Given the description of an element on the screen output the (x, y) to click on. 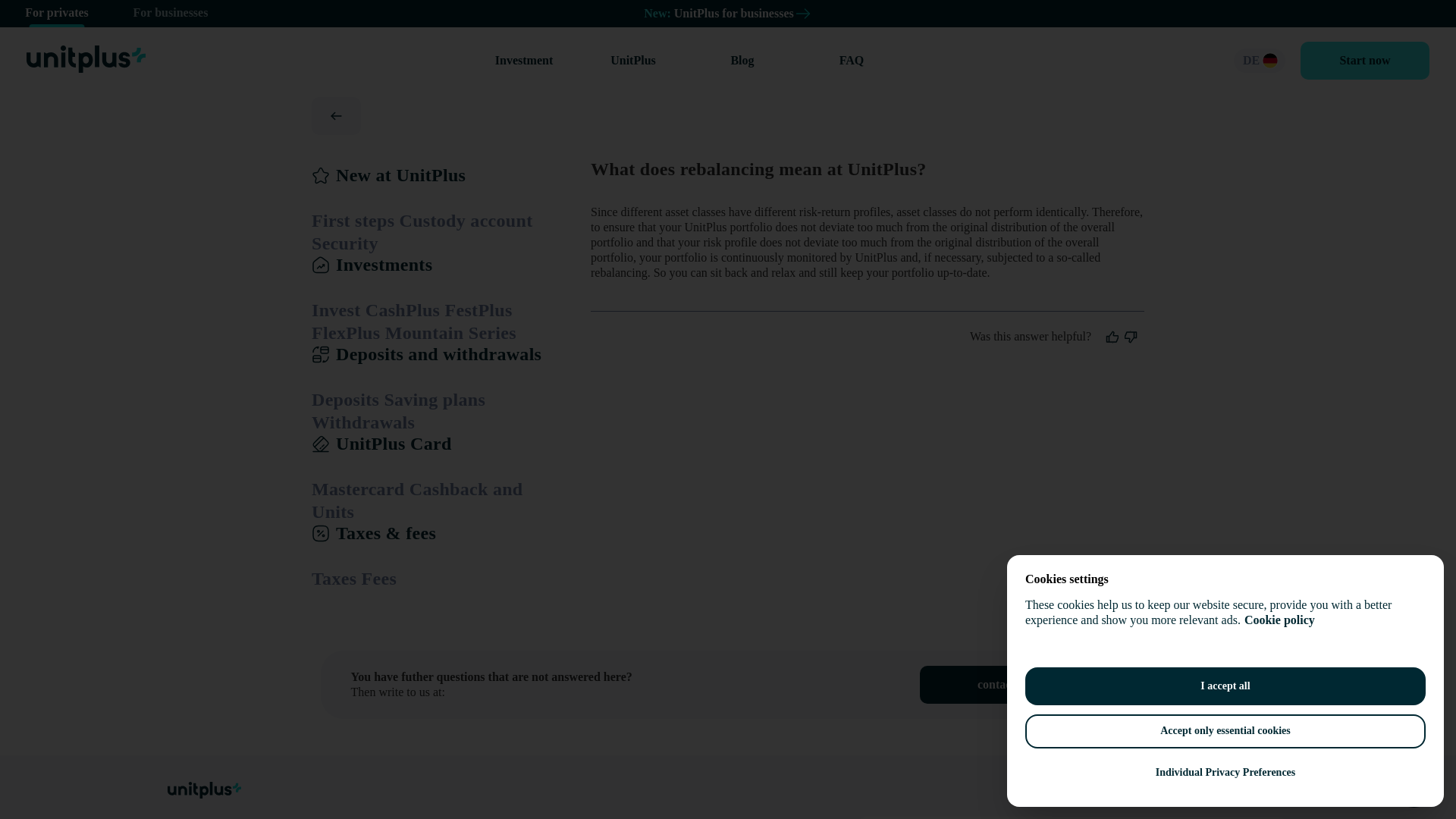
Blog (741, 60)
FAQ (850, 60)
For privates (56, 13)
For businesses (170, 13)
DE (1259, 60)
New: UnitPlus for businesses (727, 13)
